Given the description of an element on the screen output the (x, y) to click on. 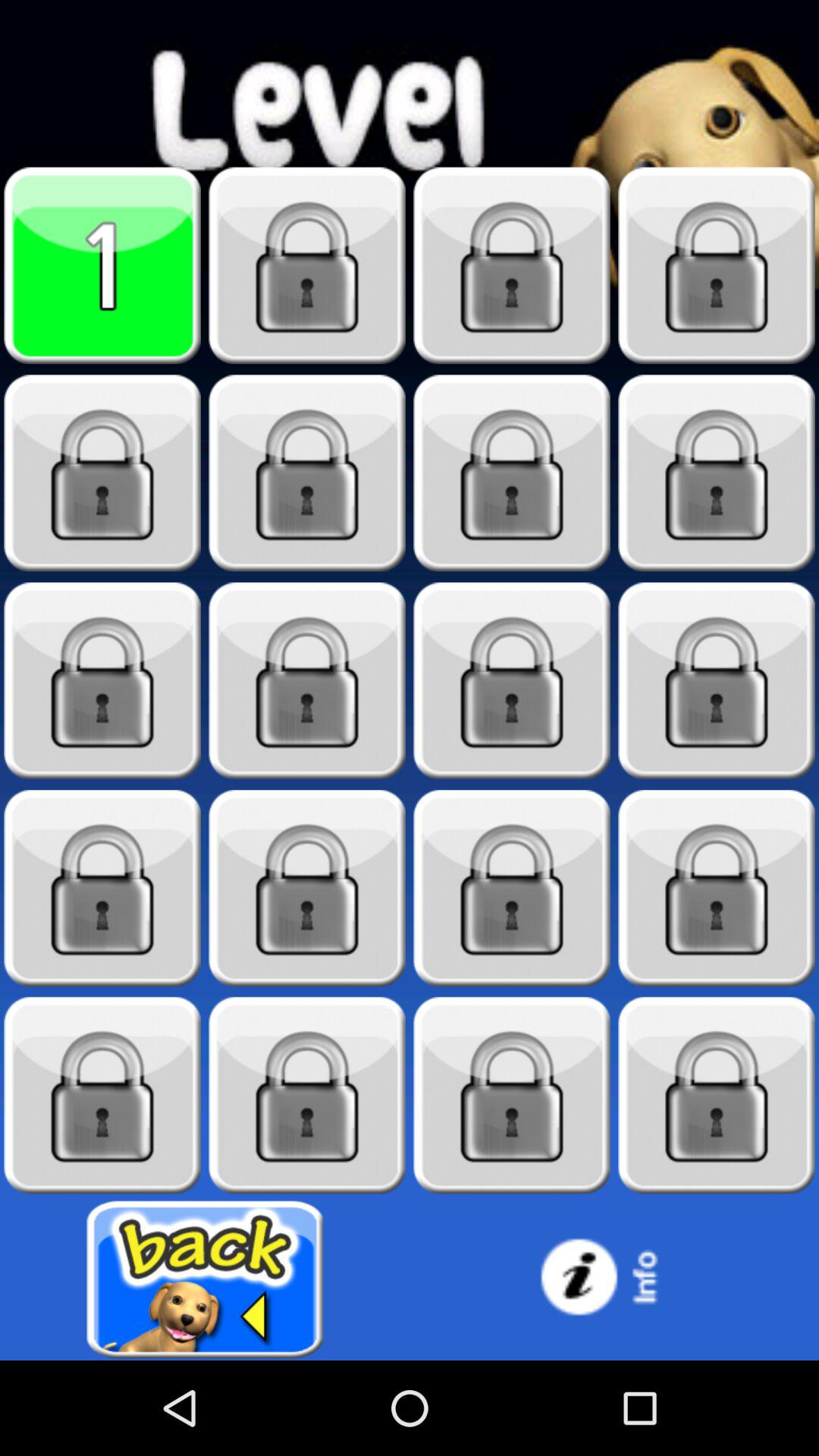
play game level (306, 680)
